Given the description of an element on the screen output the (x, y) to click on. 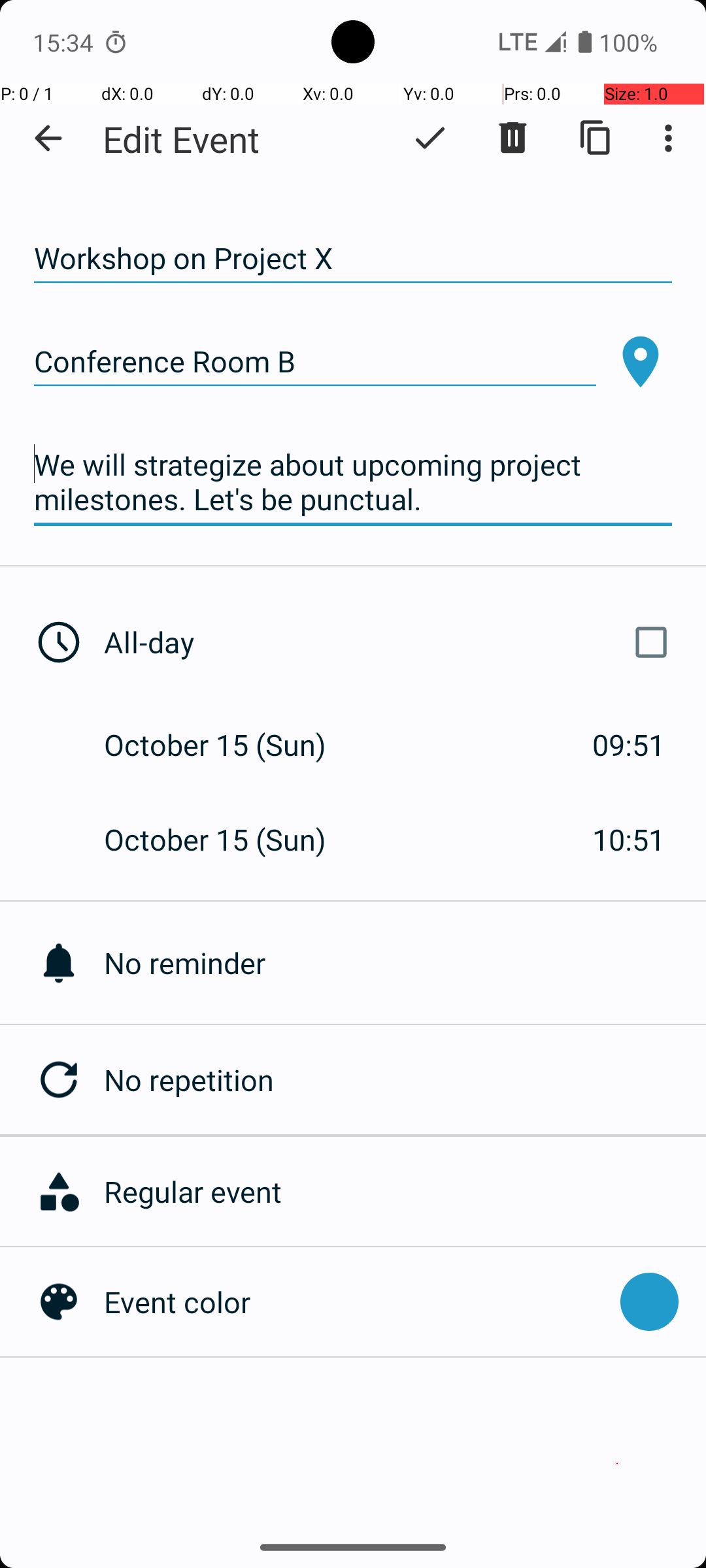
Conference Room B Element type: android.widget.EditText (314, 361)
We will strategize about upcoming project milestones. Let's be punctual. Element type: android.widget.EditText (352, 482)
09:51 Element type: android.widget.TextView (628, 744)
10:51 Element type: android.widget.TextView (628, 838)
